Given the description of an element on the screen output the (x, y) to click on. 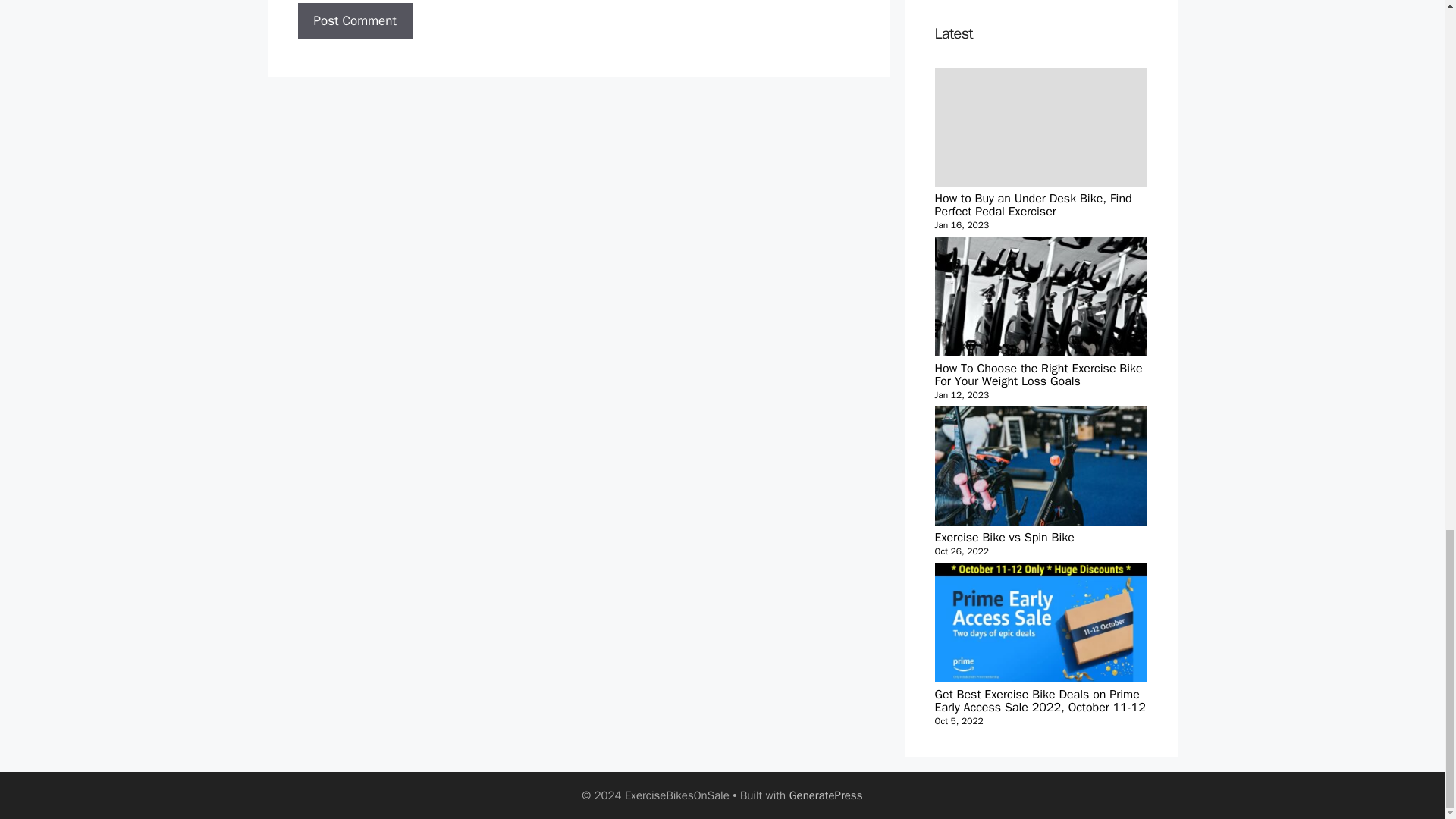
Post Comment (354, 21)
Post Comment (1040, 481)
Exercise Bike vs Spin Bike (354, 21)
How to Buy an Under Desk Bike, Find Perfect Pedal Exerciser (1040, 466)
